Given the description of an element on the screen output the (x, y) to click on. 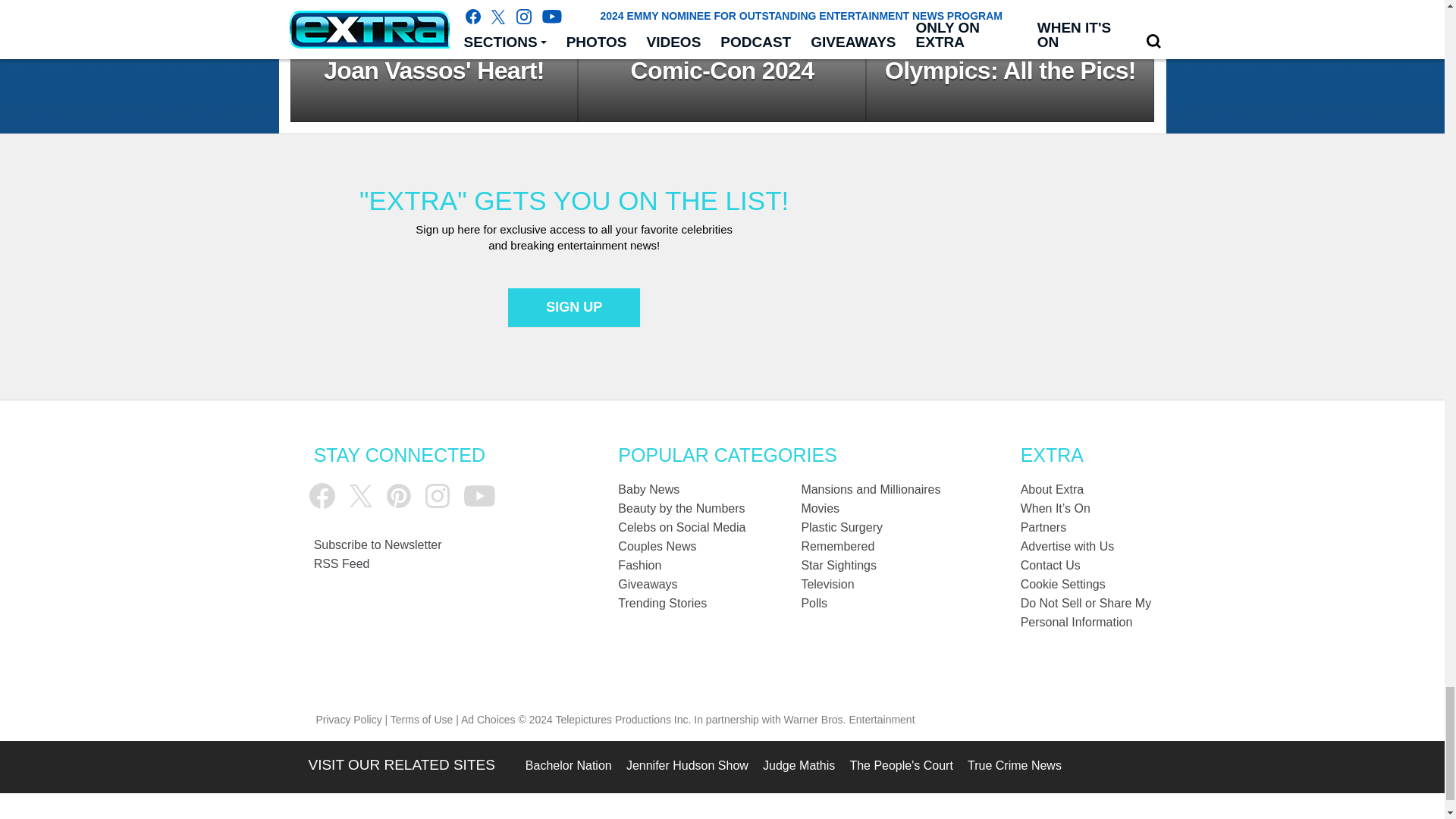
Instagram (437, 495)
Twitter (360, 495)
Facebook (321, 495)
YouTube (479, 495)
Pinterest (398, 495)
